Given the description of an element on the screen output the (x, y) to click on. 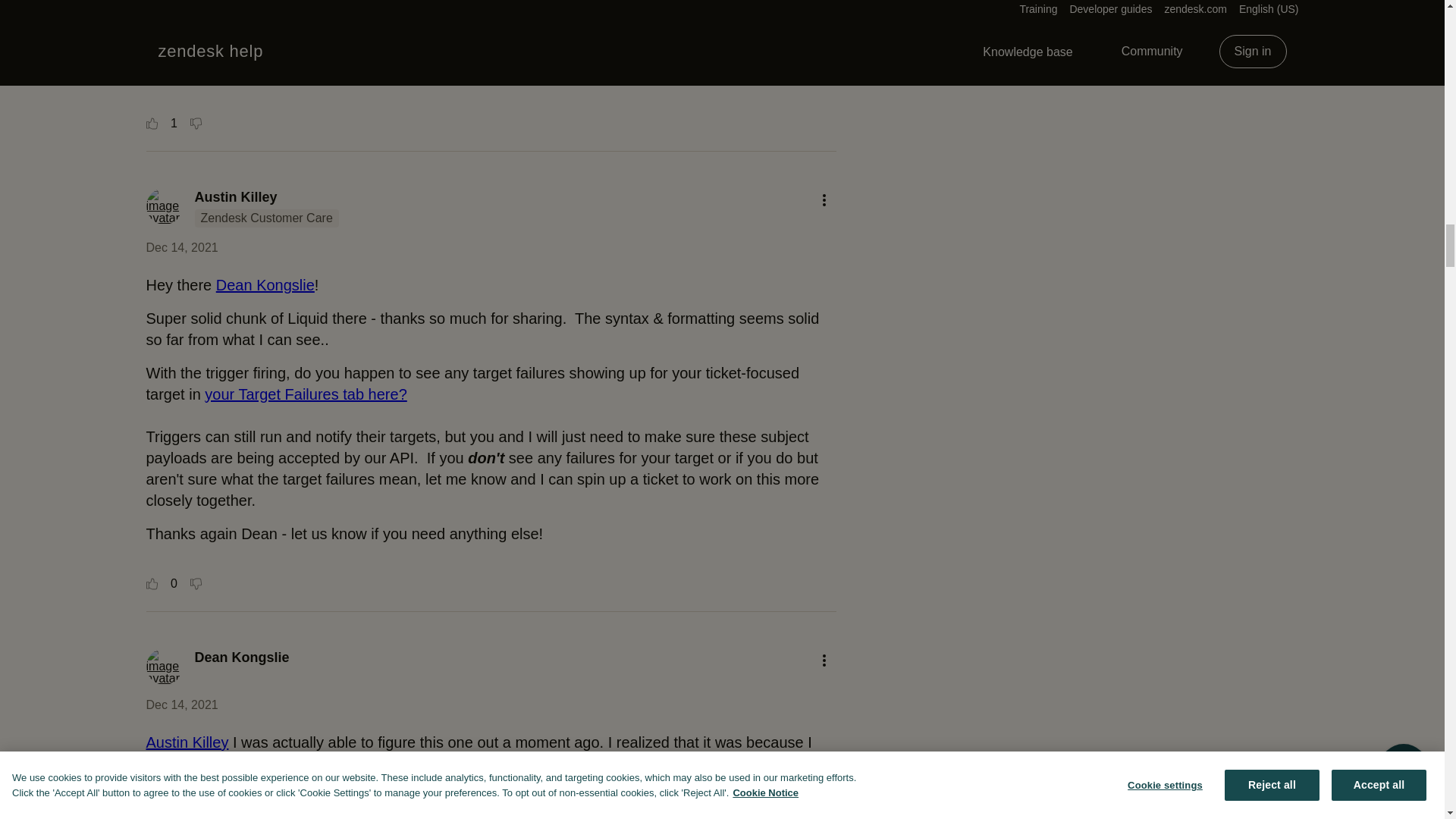
Dec 14, 2021 (180, 246)
Dec 14, 2021 (180, 704)
